Given the description of an element on the screen output the (x, y) to click on. 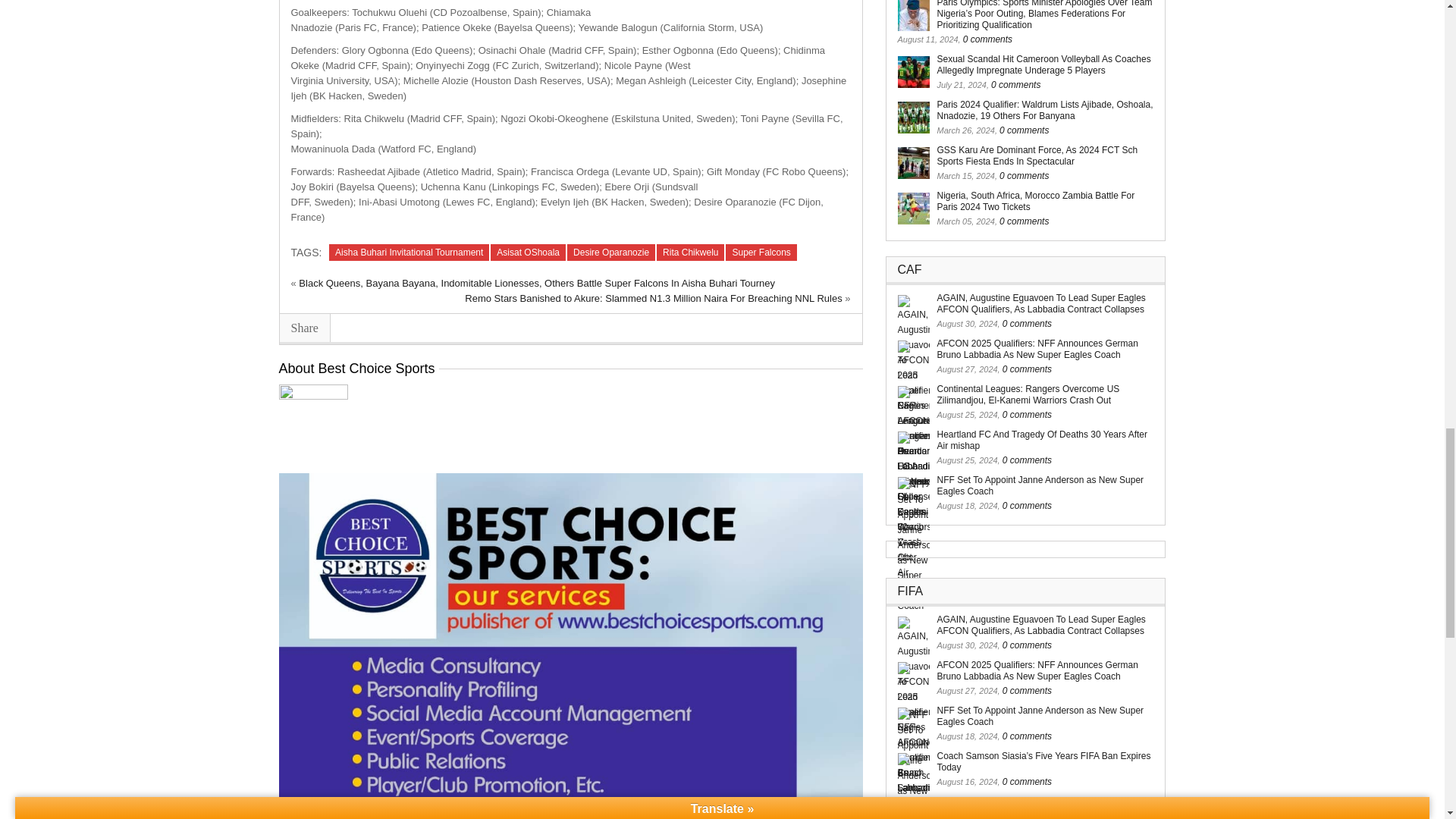
Super Falcons (760, 252)
Asisat OShoala (528, 252)
Desire Oparanozie (611, 252)
Aisha Buhari Invitational Tournament (409, 252)
Rita Chikwelu (689, 252)
